Given the description of an element on the screen output the (x, y) to click on. 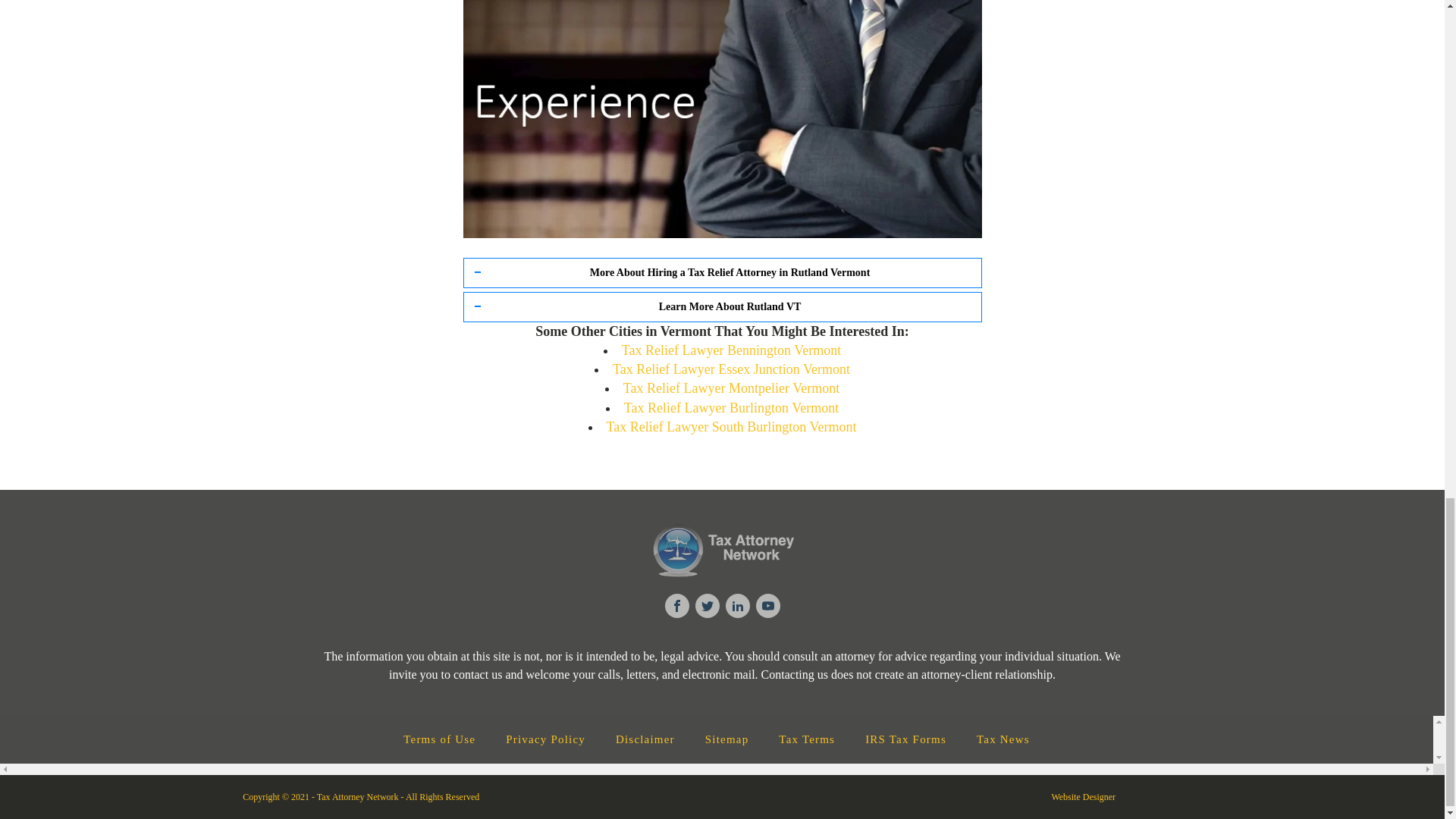
Tax Relief Lawyer Burlington Vermont (731, 407)
Tax Relief Lawyer Bennington Vermont (731, 350)
Tax Relief Lawyer South Burlington Vermont (732, 426)
Tax Relief Lawyer Montpelier Vermont (731, 387)
Tax Relief Lawyer Essex Junction Vermont (731, 368)
